Given the description of an element on the screen output the (x, y) to click on. 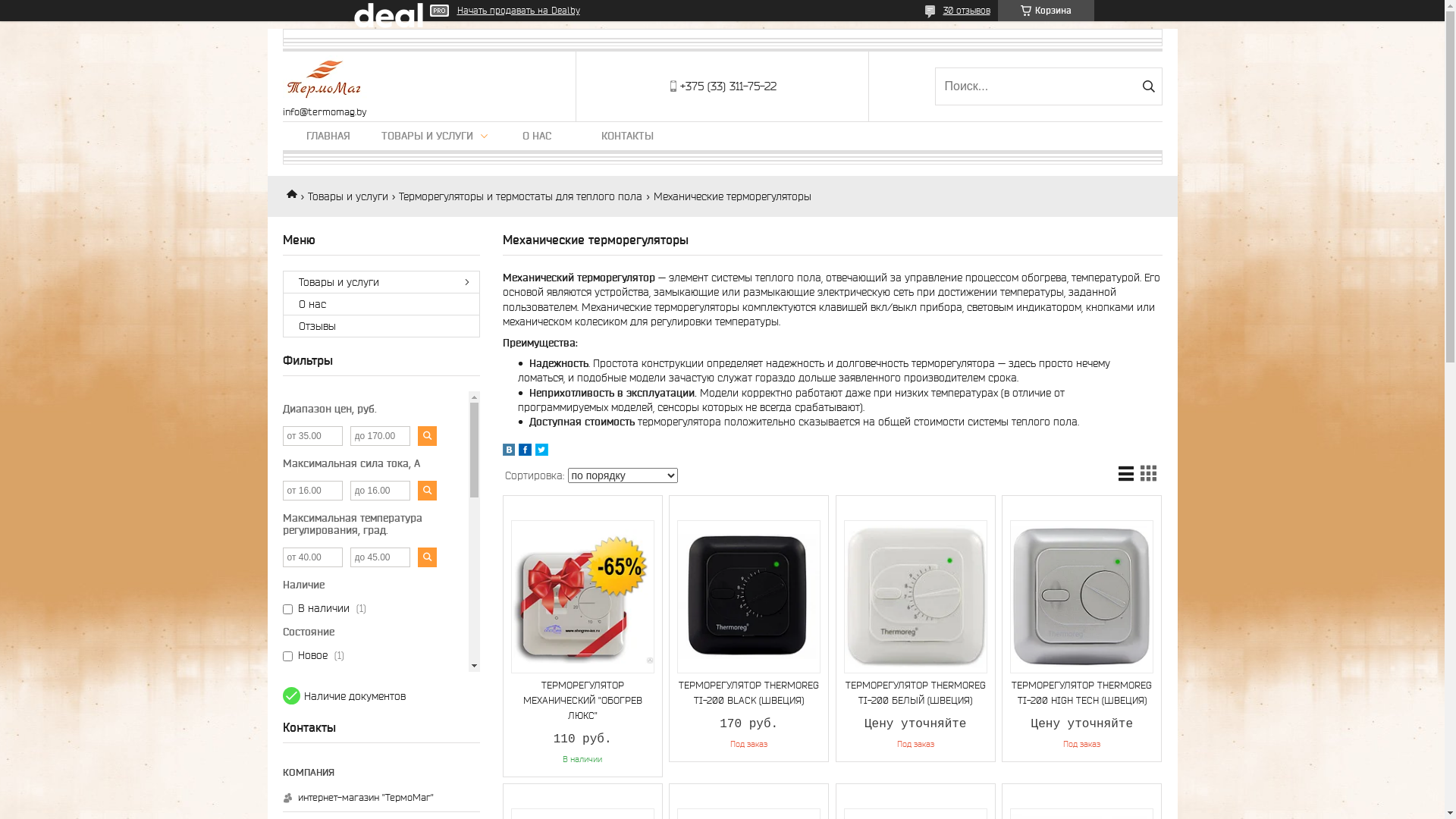
twitter Element type: hover (541, 451)
facebook Element type: hover (524, 451)
